Given the description of an element on the screen output the (x, y) to click on. 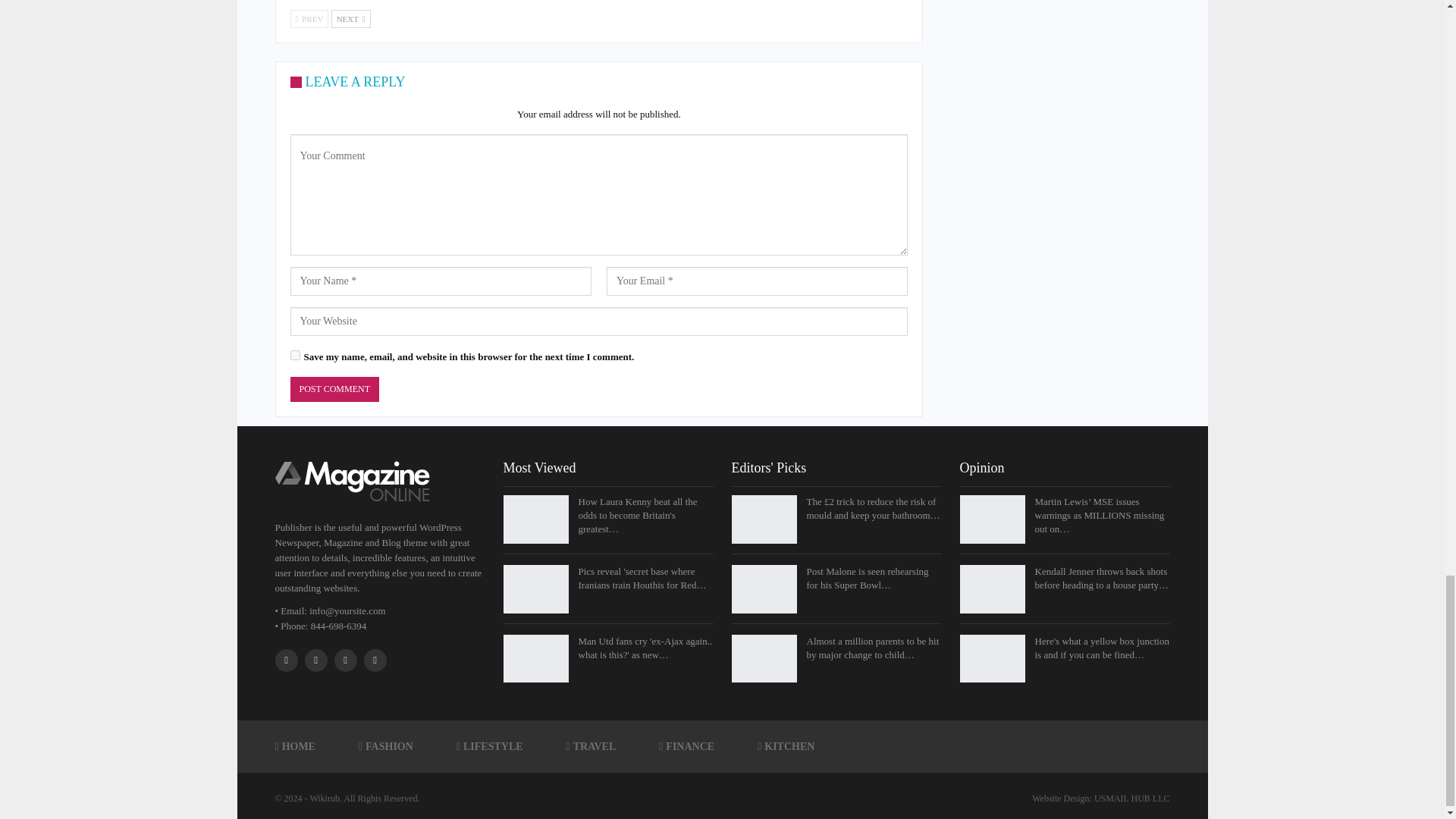
yes (294, 355)
Post Comment (333, 389)
